Given the description of an element on the screen output the (x, y) to click on. 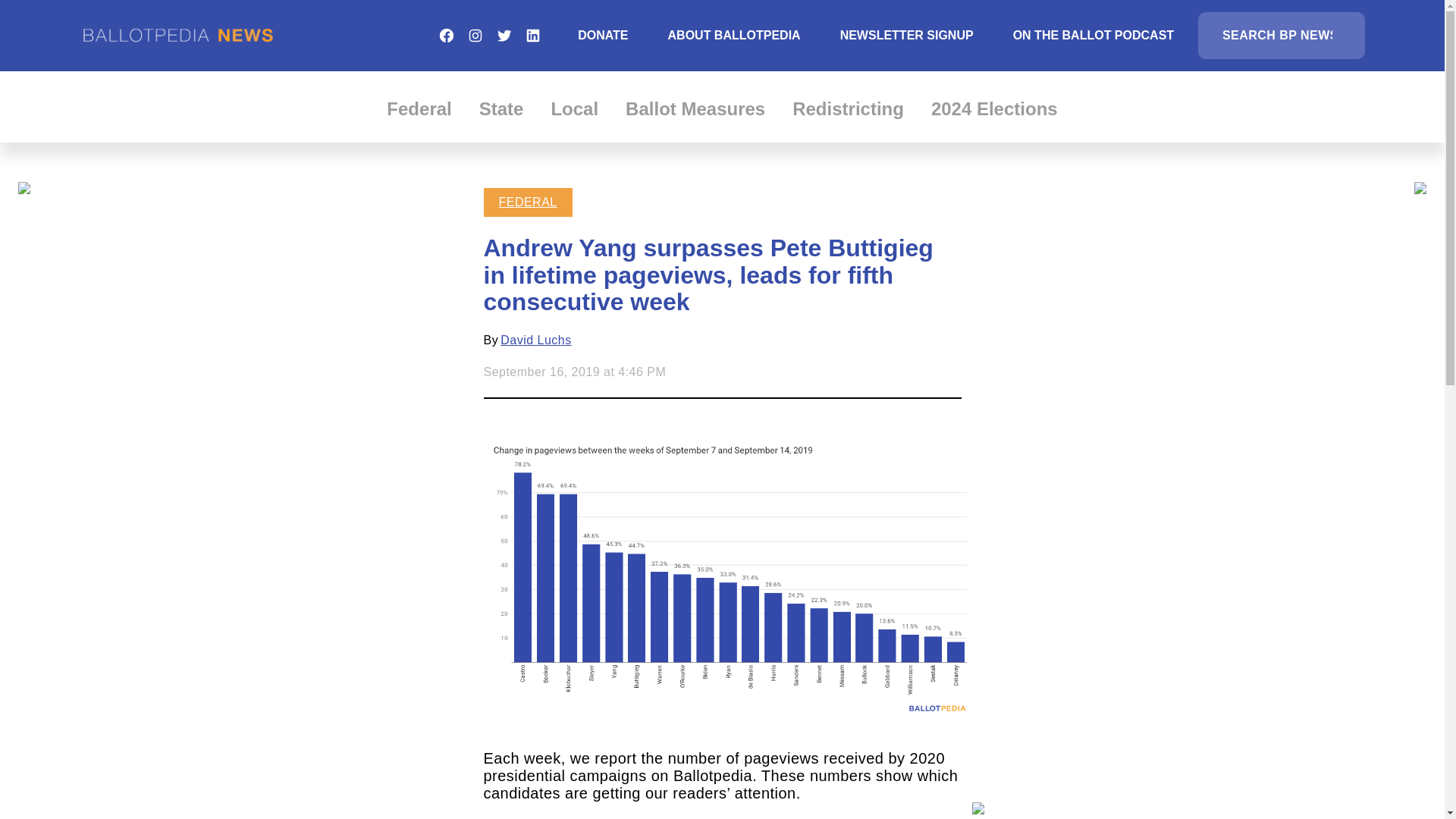
Redistricting (848, 108)
NEWSLETTER SIGNUP (906, 35)
DONATE (602, 35)
David Luchs (535, 339)
Facebook (446, 35)
FEDERAL (528, 201)
Twitter (504, 35)
Ballot Measures (695, 108)
Local (574, 108)
State (501, 108)
LinkedIn (532, 35)
Instagram (475, 35)
ON THE BALLOT PODCAST (1093, 35)
ABOUT BALLOTPEDIA (734, 35)
2024 Elections (994, 108)
